Given the description of an element on the screen output the (x, y) to click on. 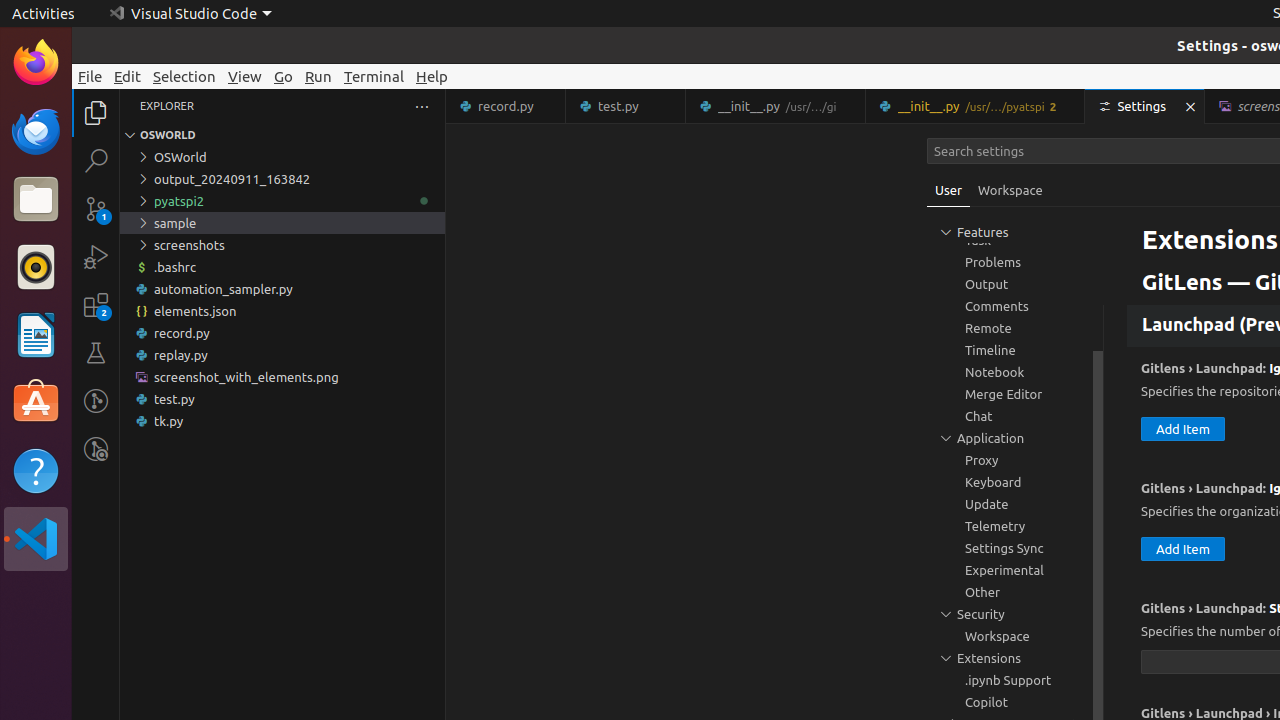
GitLens Inspect Element type: page-tab (96, 449)
View Element type: push-button (245, 76)
Terminal, group Element type: tree-item (1015, 217)
Terminal Element type: push-button (374, 76)
automation_sampler.py Element type: tree-item (282, 289)
